Given the description of an element on the screen output the (x, y) to click on. 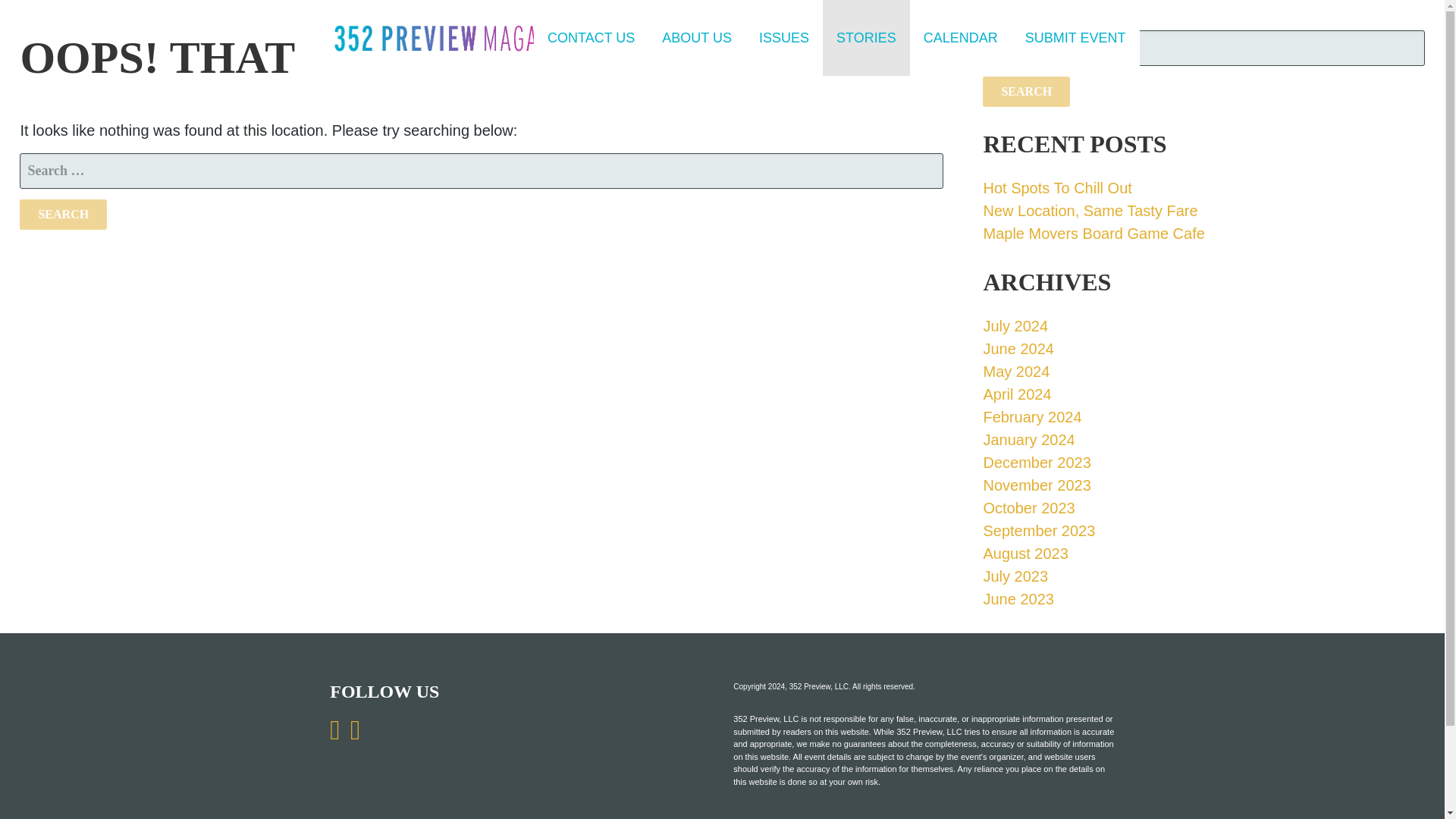
January 2024 (1028, 439)
April 2024 (1016, 393)
Search (63, 214)
May 2024 (1015, 371)
Search (1026, 91)
Hot Spots To Chill Out (1056, 187)
New Location, Same Tasty Fare (1089, 210)
ABOUT US (696, 38)
October 2023 (1028, 507)
CALENDAR (960, 38)
December 2023 (1036, 462)
September 2023 (1038, 530)
July 2023 (1015, 576)
February 2024 (1031, 416)
Maple Movers Board Game Cafe (1093, 233)
